Given the description of an element on the screen output the (x, y) to click on. 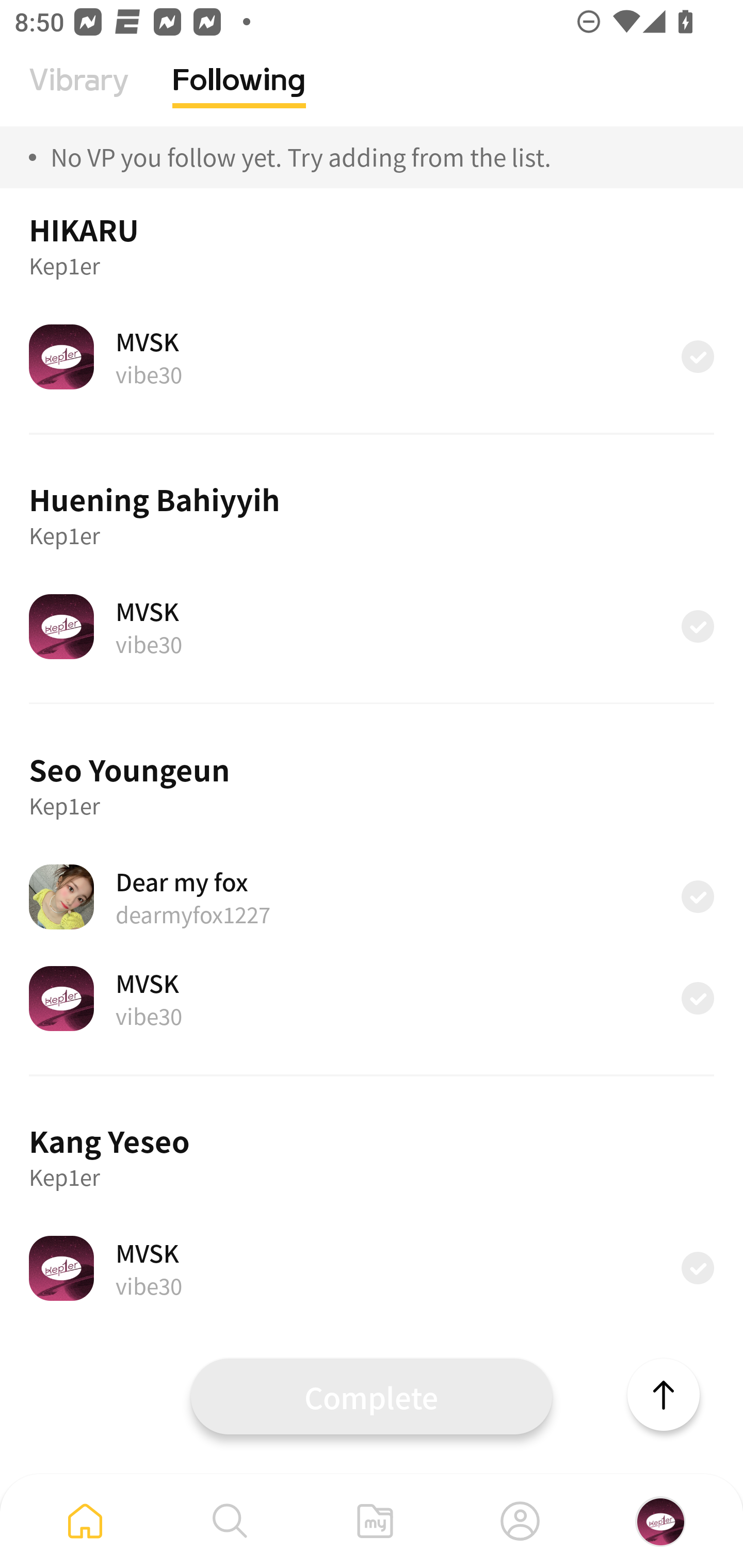
Vibrary (78, 95)
Following (239, 95)
MVSK vibe30 (371, 356)
MVSK vibe30 (371, 626)
Dear my fox dearmyfox1227 (371, 896)
MVSK vibe30 (371, 998)
MVSK vibe30 (371, 1268)
Complete (371, 1395)
